Given the description of an element on the screen output the (x, y) to click on. 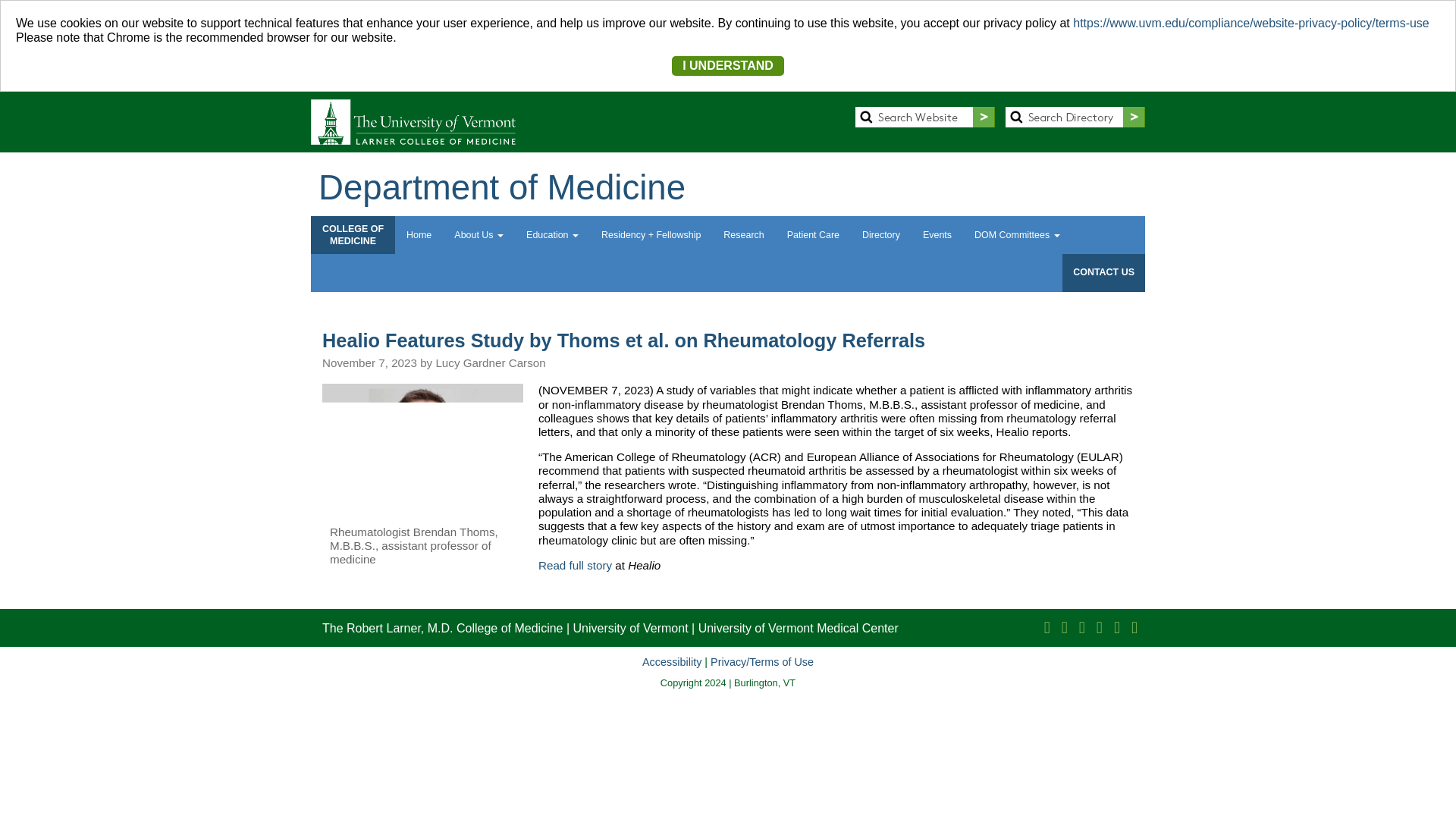
Education (552, 234)
About Us (478, 234)
Research (742, 234)
Home (418, 234)
Patient Care (813, 234)
I UNDERSTAND (727, 65)
